Given the description of an element on the screen output the (x, y) to click on. 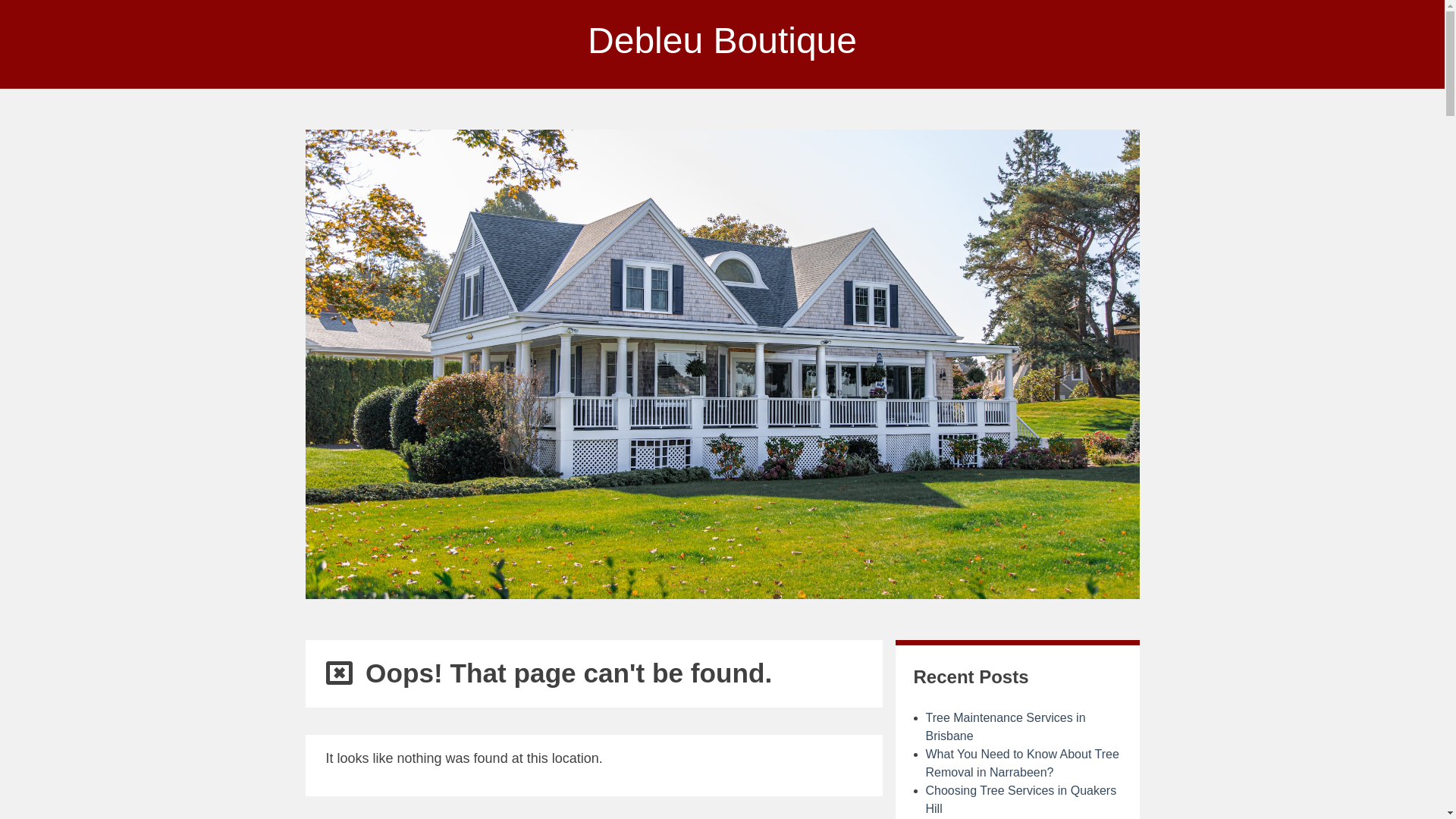
Debleu Boutique Element type: text (721, 40)
What You Need to Know About Tree Removal in Narrabeen? Element type: text (1021, 762)
Tree Maintenance Services in Brisbane Element type: text (1005, 726)
Choosing Tree Services in Quakers Hill Element type: text (1020, 799)
